Given the description of an element on the screen output the (x, y) to click on. 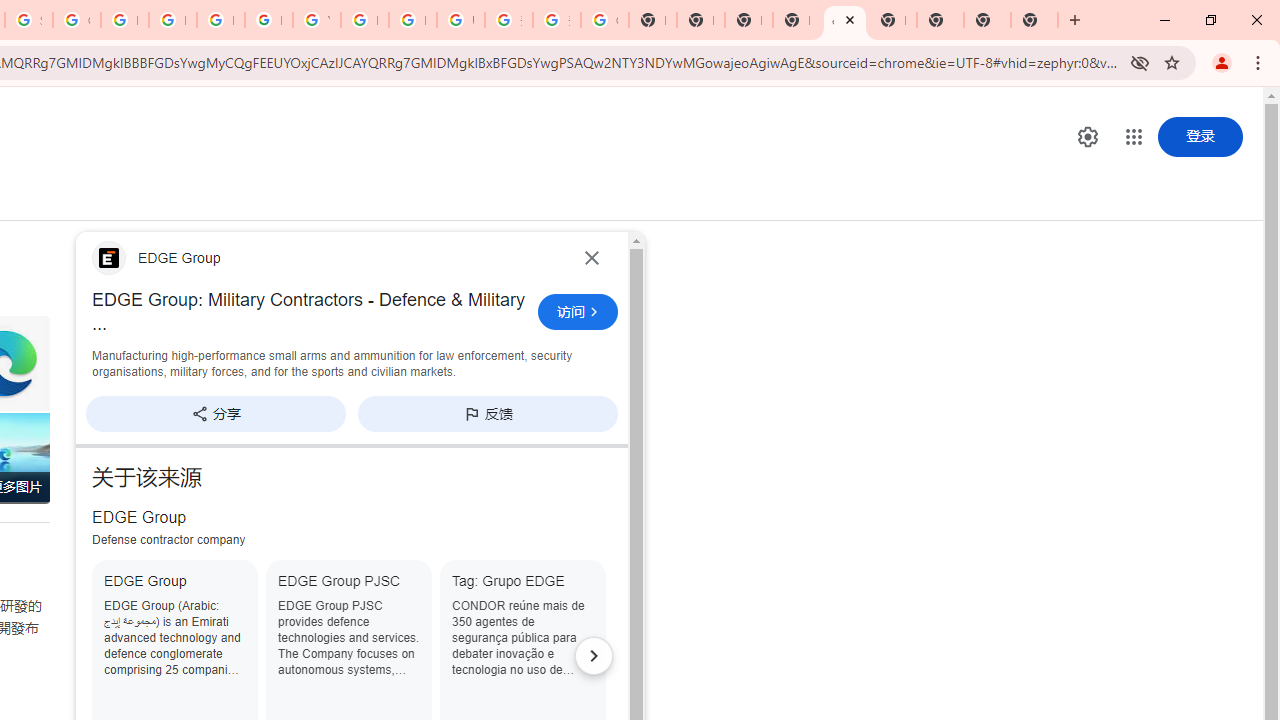
Google Images (604, 20)
Privacy Help Center - Policies Help (124, 20)
